Given the description of an element on the screen output the (x, y) to click on. 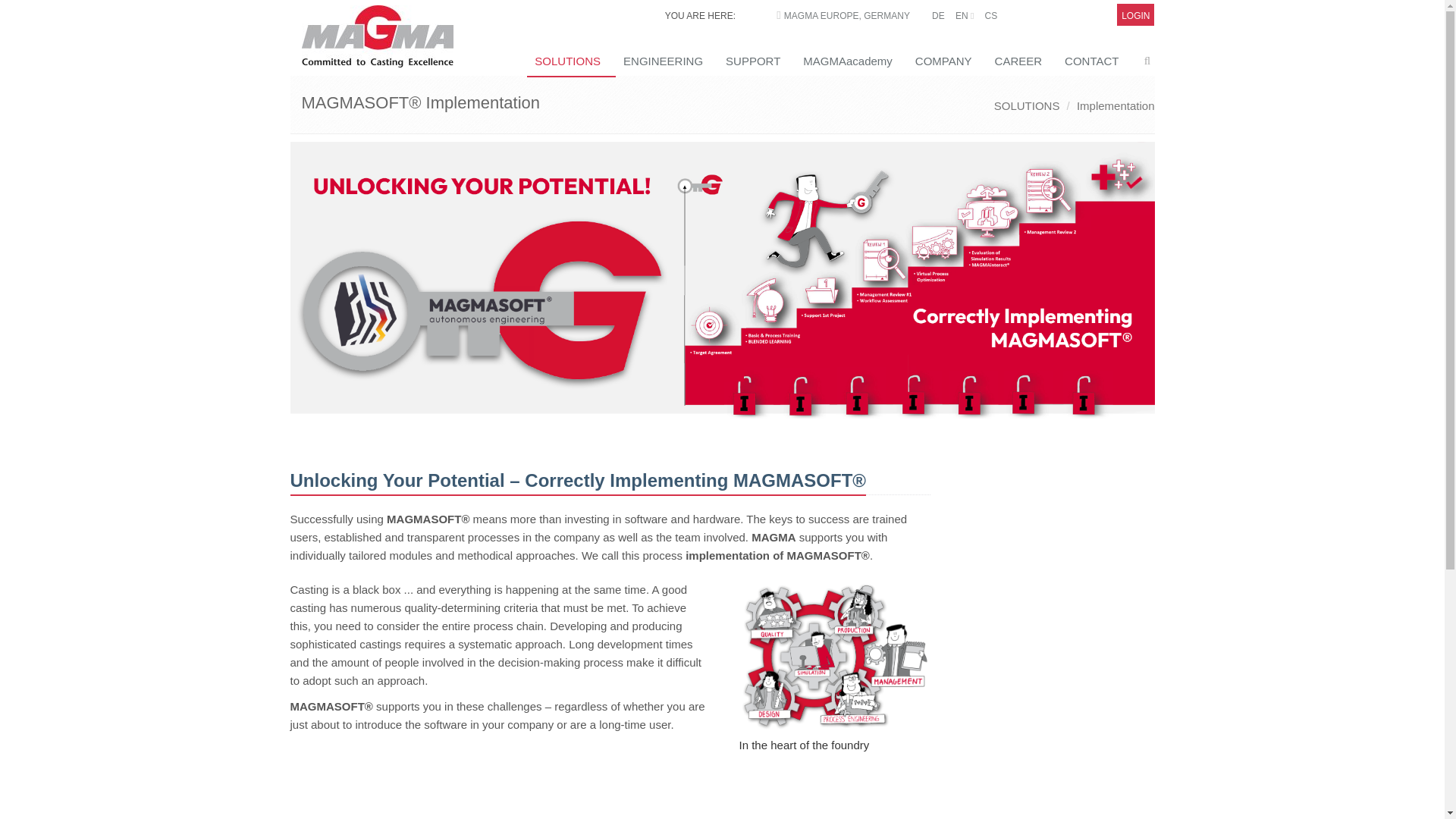
DE (937, 15)
MAGMA EUROPE, GERMANY (847, 15)
EN  (964, 15)
In the heart of the foundry  (834, 656)
CS (990, 15)
LOGIN (1135, 15)
